Given the description of an element on the screen output the (x, y) to click on. 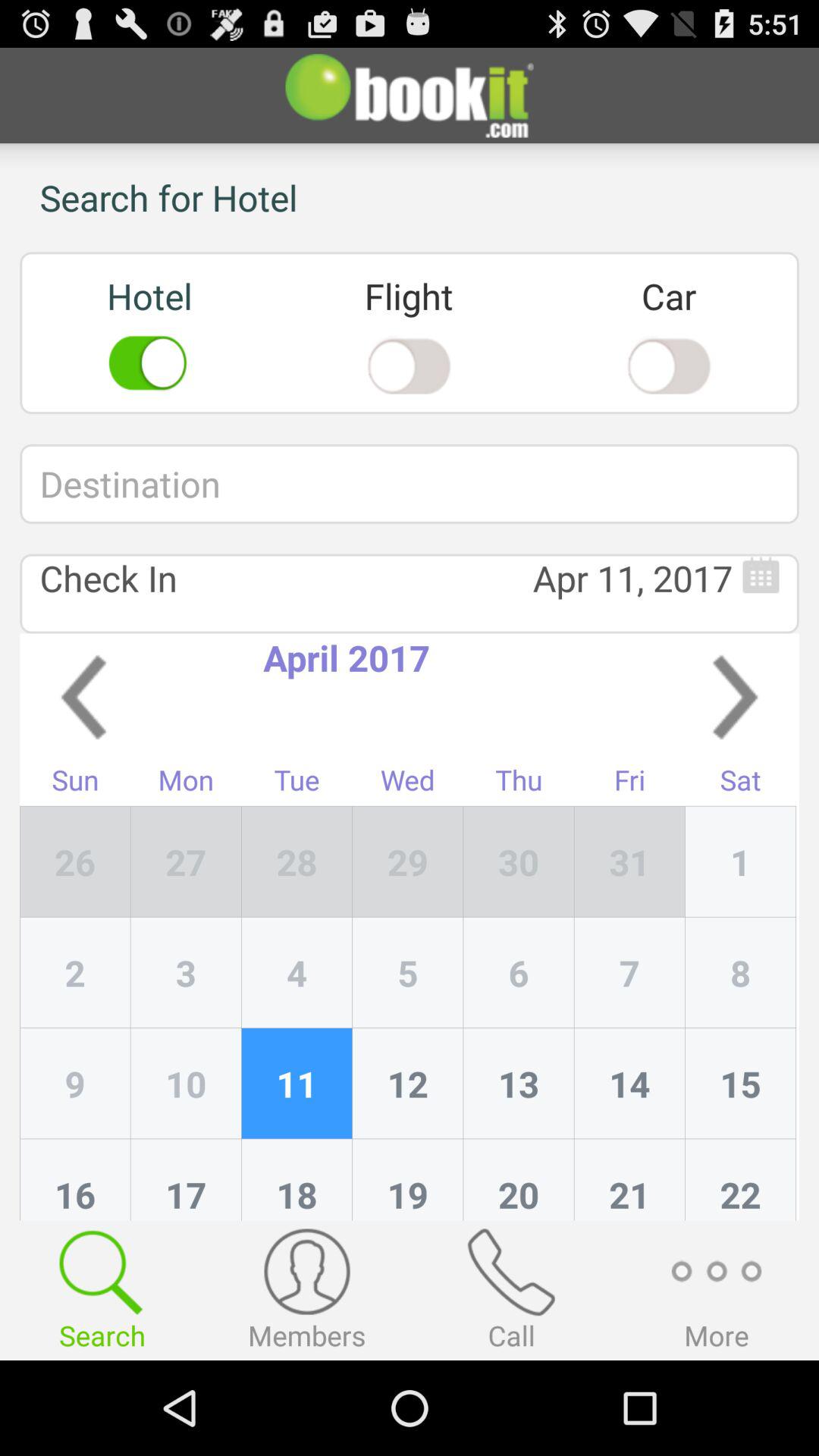
launch item next to the 7 (740, 1083)
